Given the description of an element on the screen output the (x, y) to click on. 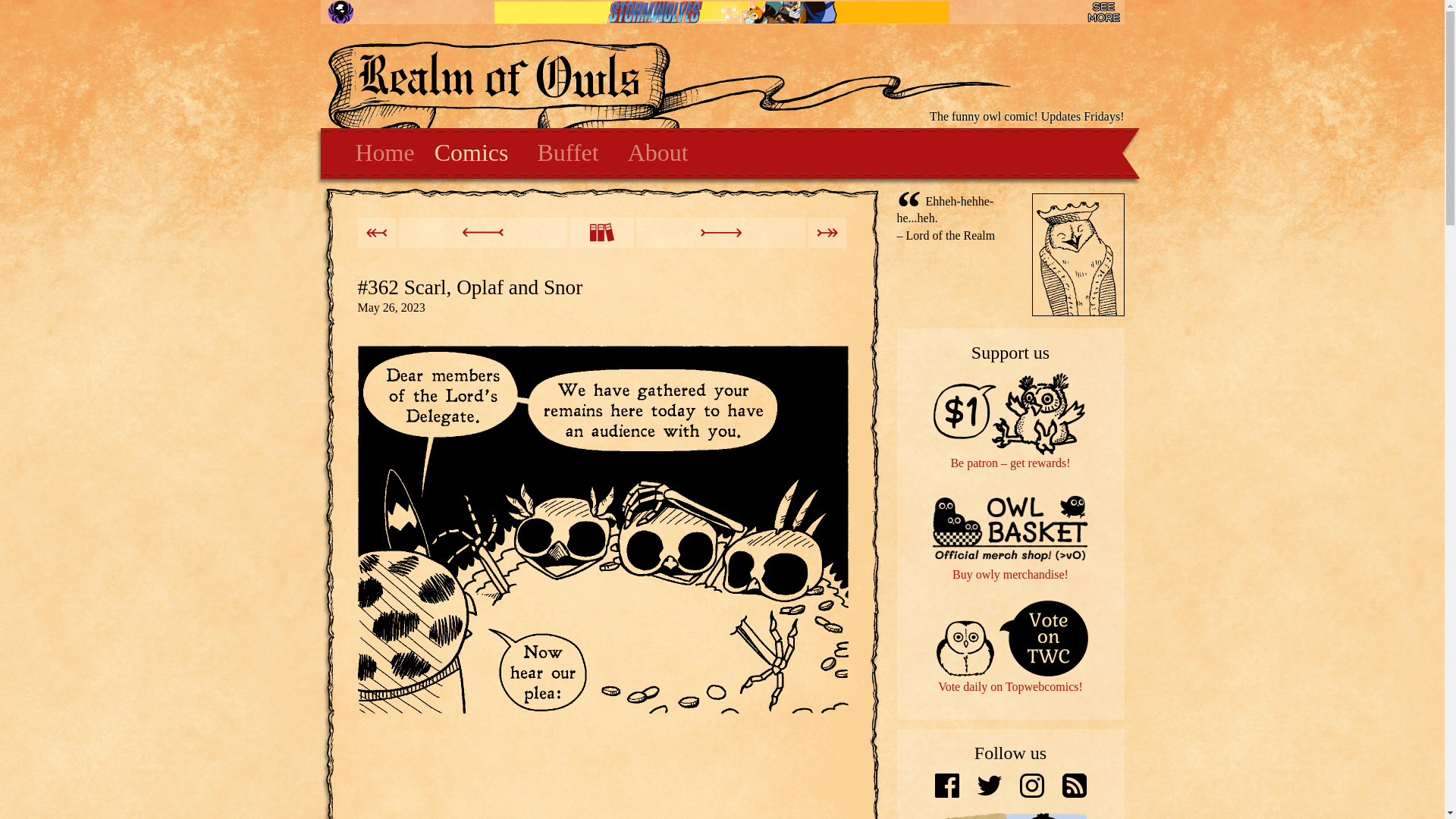
The SpiderForest Webcomic Collective (341, 11)
Home (379, 152)
Buffet (567, 153)
Next comic (721, 232)
Comics (471, 153)
First comic (377, 232)
About (657, 153)
Previous comic (482, 232)
All comics (601, 232)
